Given the description of an element on the screen output the (x, y) to click on. 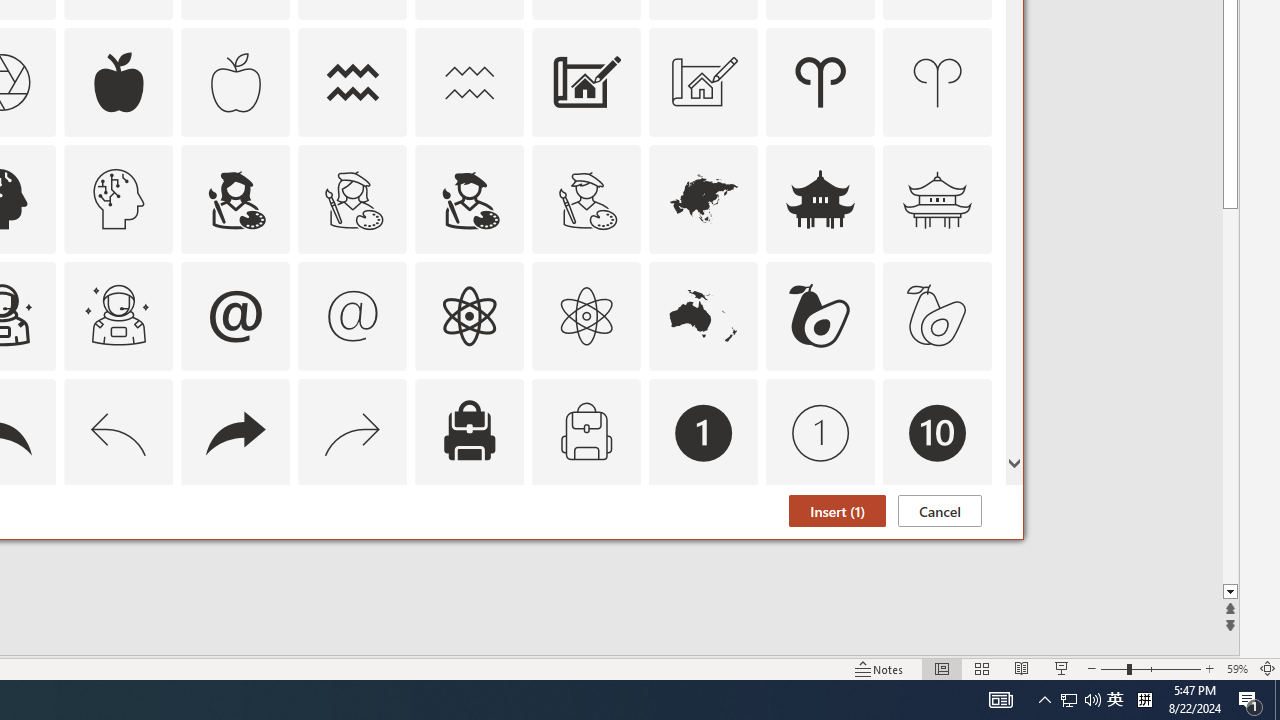
AutomationID: Icons_Badge6_M (235, 550)
